Given the description of an element on the screen output the (x, y) to click on. 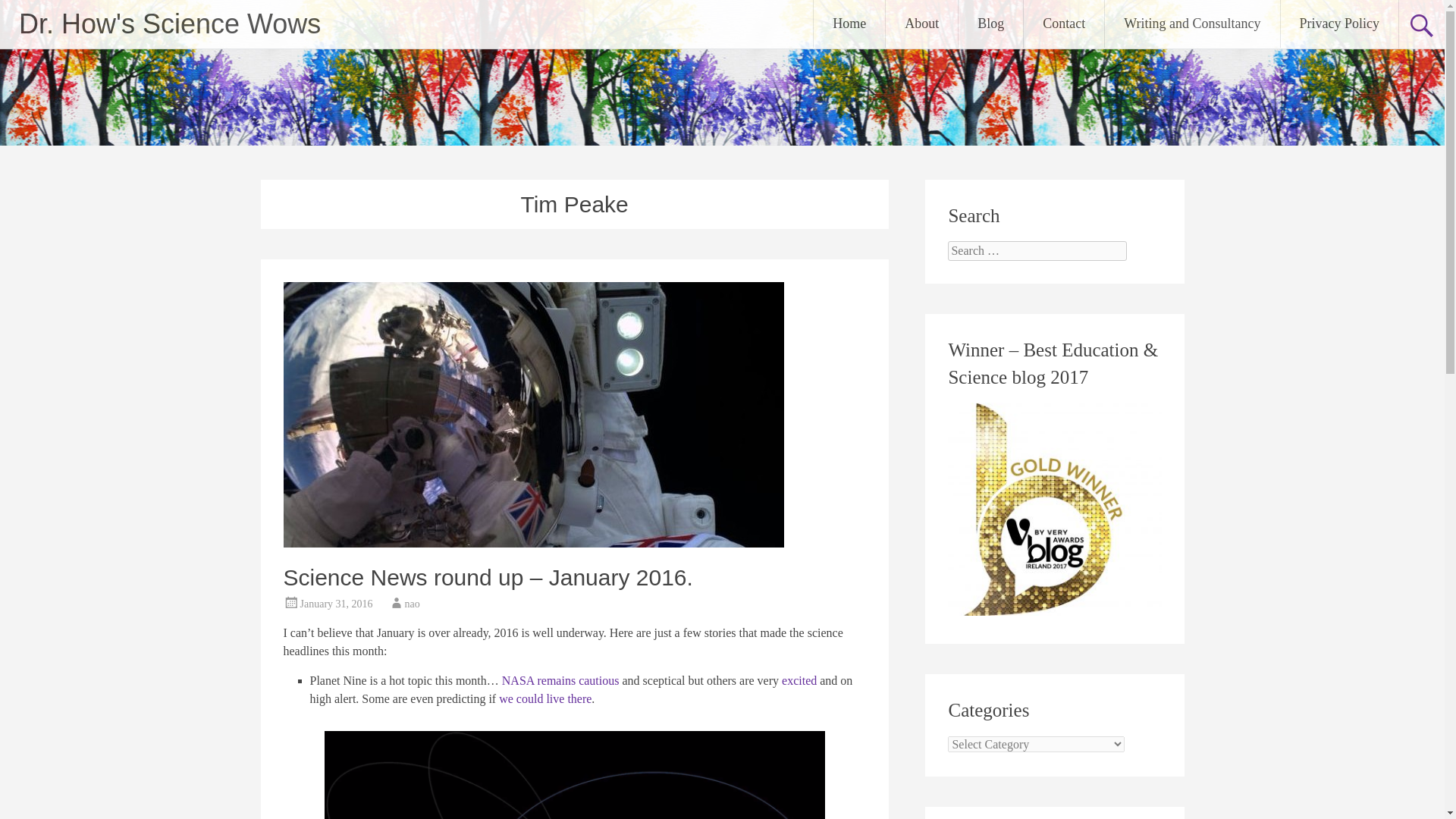
NASA remains cautious (561, 680)
Search (26, 12)
Dr. How's Science Wows (169, 23)
Contact (1063, 23)
nao (412, 603)
excited (798, 680)
Dr. How's Science Wows (169, 23)
January 31, 2016 (335, 603)
About (921, 23)
Privacy Policy (1338, 23)
Writing and Consultancy (1192, 23)
Blog (990, 23)
Home (849, 23)
we could live there (545, 698)
